Given the description of an element on the screen output the (x, y) to click on. 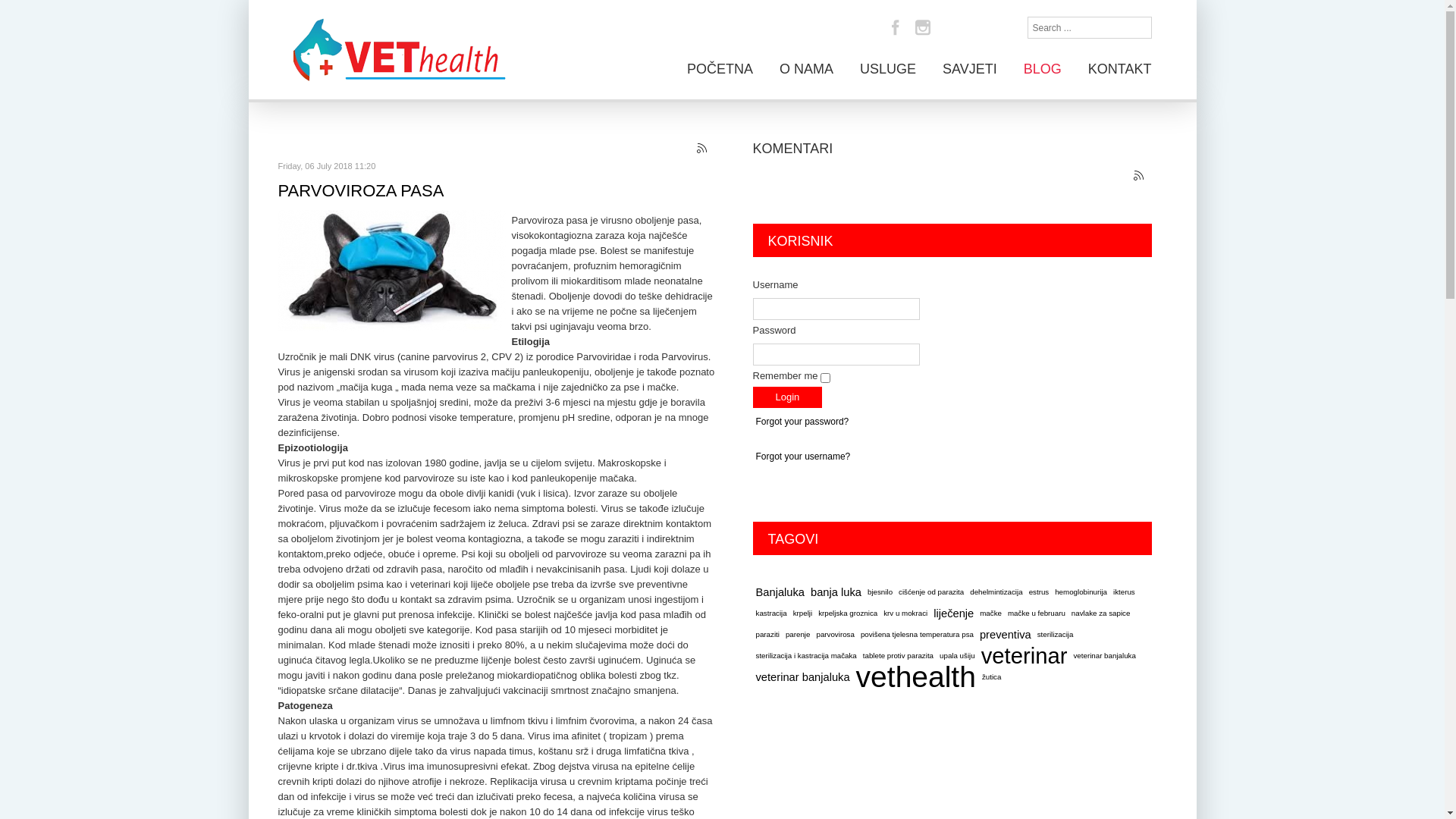
preventiva Element type: text (1005, 634)
veterinar banjaluka Element type: text (802, 676)
Parvoviroza pasa Element type: hover (391, 269)
veterinar banjaluka Element type: text (1104, 655)
vethealth Element type: text (916, 676)
ikterus Element type: text (1124, 591)
Subscribe to this RSS feed Element type: hover (1138, 176)
O NAMA Element type: text (806, 67)
Forgot your password? Element type: text (801, 421)
krv u mokraci Element type: text (905, 613)
BLOG Element type: text (1042, 67)
Subscribe to this RSS feed Element type: hover (702, 149)
parvovirosa Element type: text (834, 634)
Forgot your username? Element type: text (802, 456)
Banjaluka Element type: text (779, 591)
KONTAKT Element type: text (1119, 67)
parenje Element type: text (797, 634)
dehelmintizacija Element type: text (995, 591)
krpeljska groznica Element type: text (847, 613)
SAVJETI Element type: text (969, 67)
USLUGE Element type: text (887, 67)
tablete protiv parazita Element type: text (897, 655)
Instagram Element type: hover (921, 26)
kastracija Element type: text (770, 613)
sterilizacija Element type: text (1055, 634)
hemoglobinurija Element type: text (1080, 591)
krpelji Element type: text (802, 613)
veterinar Element type: text (1024, 655)
PARVOVIROZA PASA Element type: text (360, 190)
navlake za sapice Element type: text (1100, 613)
Login Element type: text (787, 396)
paraziti Element type: text (766, 634)
Facebook Element type: hover (894, 26)
estrus Element type: text (1039, 591)
banja luka Element type: text (835, 591)
bjesnilo Element type: text (879, 591)
